Given the description of an element on the screen output the (x, y) to click on. 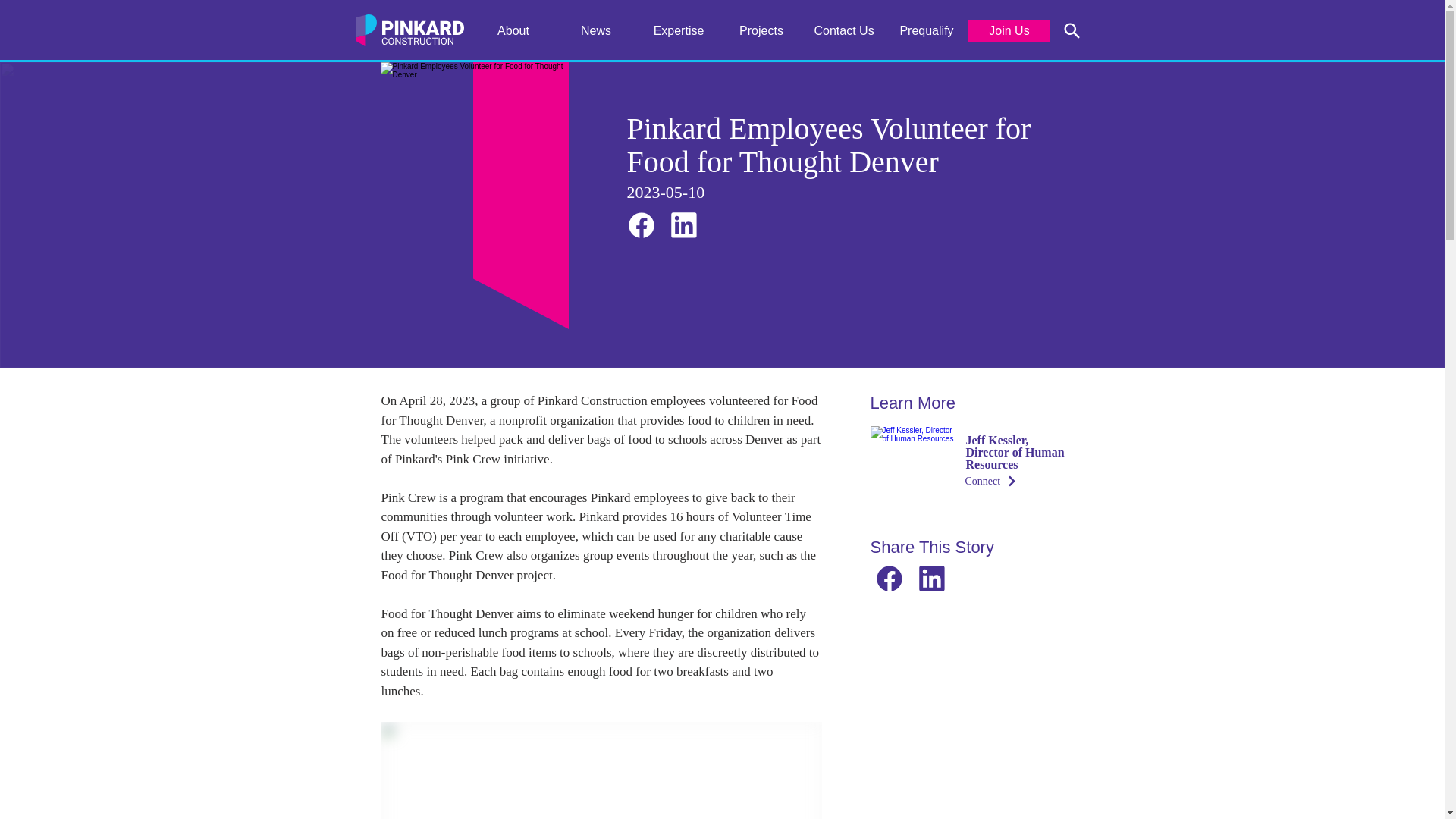
Contact Us (843, 30)
Jeff Kessler, Director of Human Resources  (913, 468)
About (512, 30)
Projects (761, 30)
News (595, 30)
Expertise (678, 30)
Join Us (1008, 30)
Pinkard Employees Volunteer for Food for Thought Denver  (474, 195)
Connect (1013, 481)
Prequalify (926, 30)
